Given the description of an element on the screen output the (x, y) to click on. 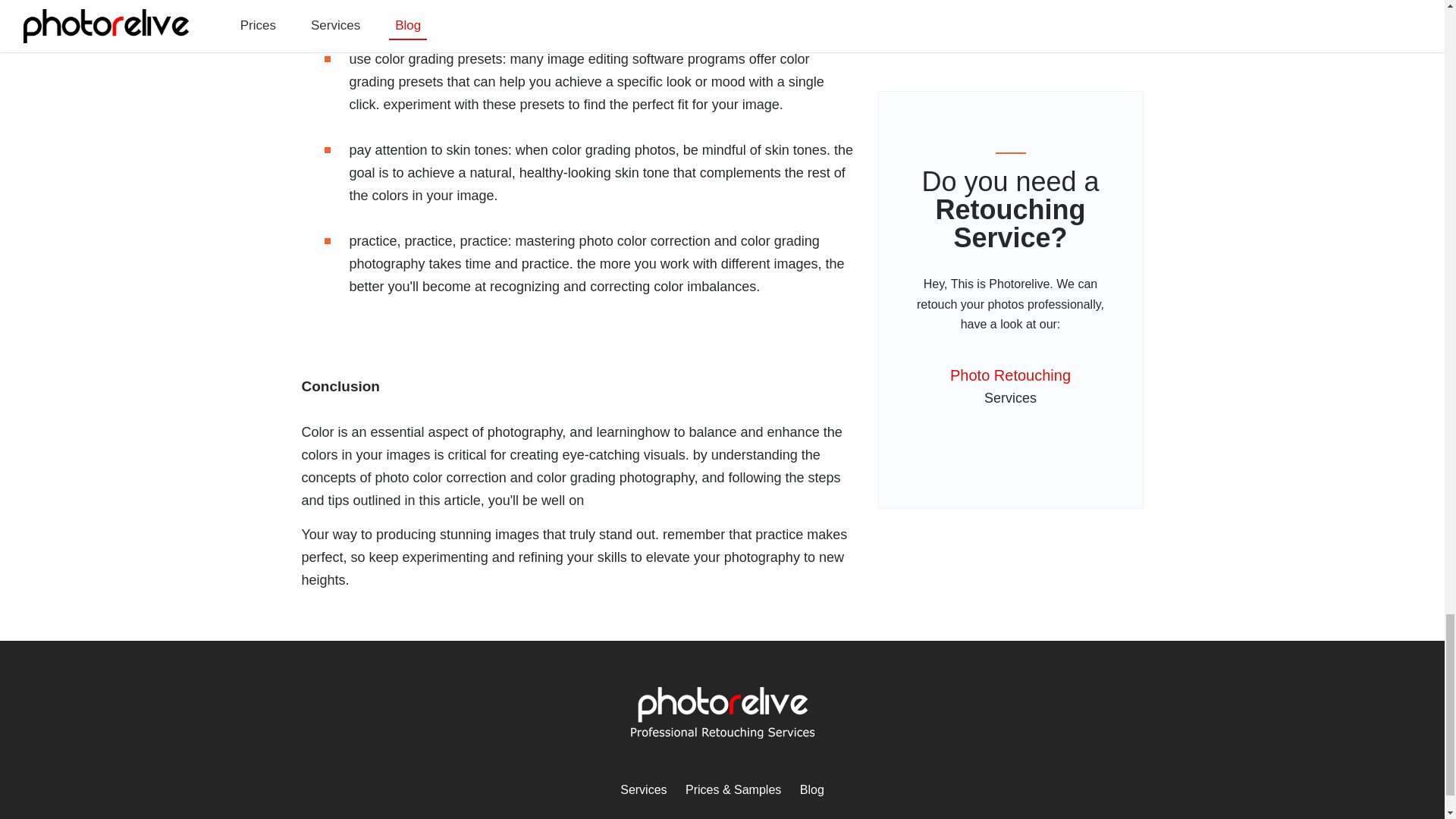
Blog (811, 789)
Photo Retouching Prices (732, 789)
Photo Retouching Services (643, 789)
Services (643, 789)
